Given the description of an element on the screen output the (x, y) to click on. 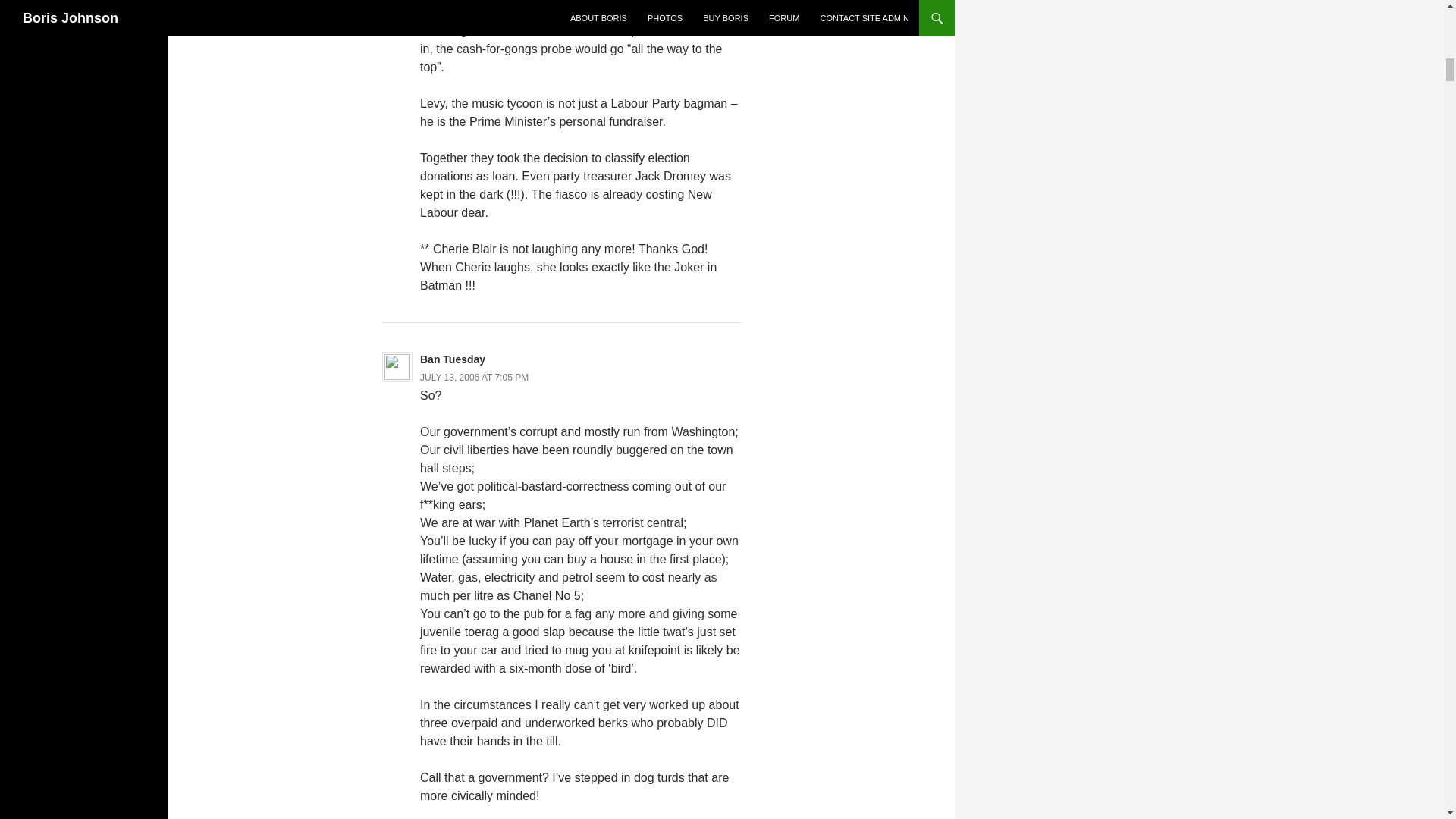
JULY 13, 2006 AT 7:05 PM (474, 377)
